Given the description of an element on the screen output the (x, y) to click on. 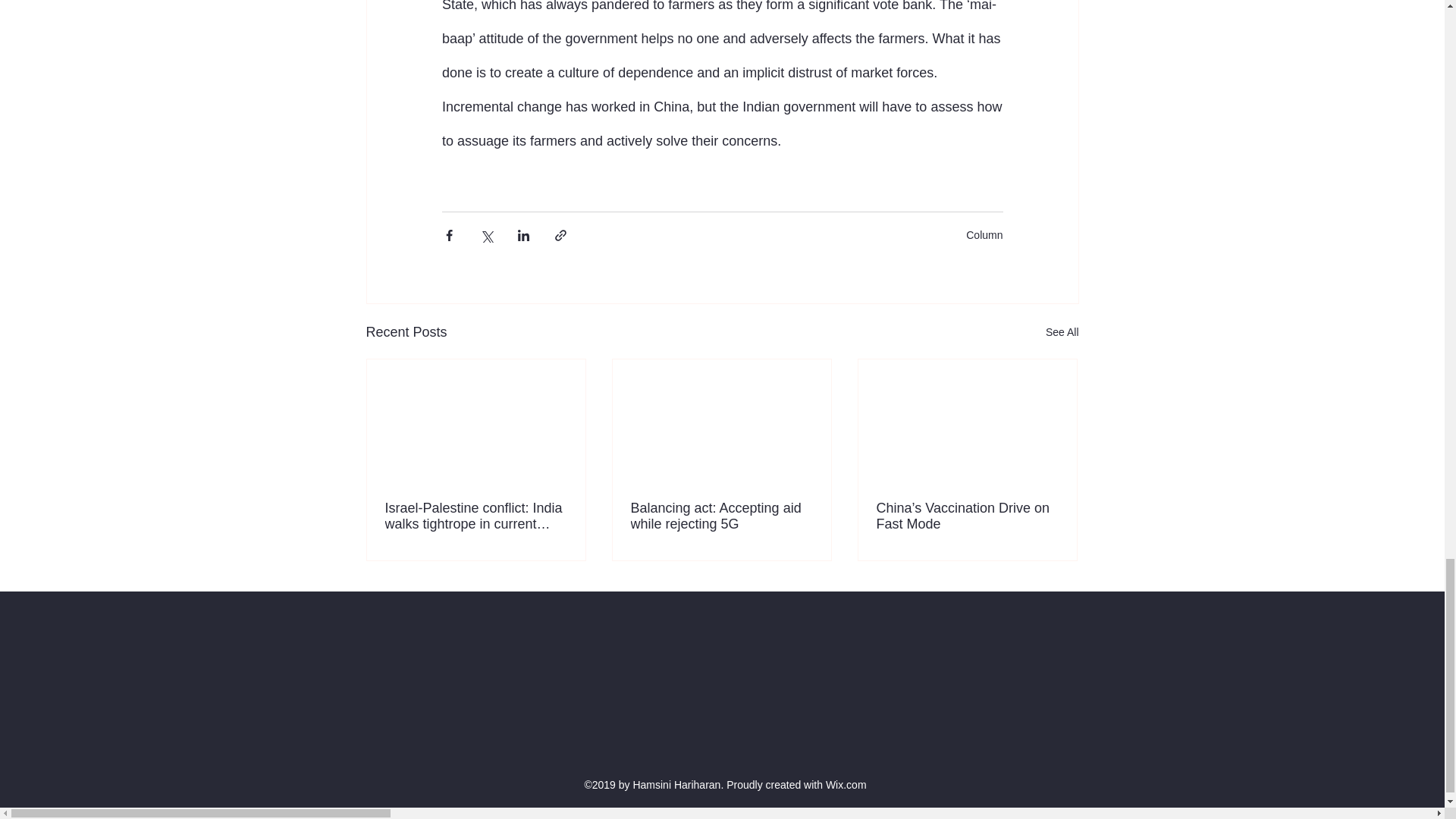
See All (1061, 332)
Balancing act: Accepting aid while rejecting 5G (721, 516)
Column (984, 234)
